Given the description of an element on the screen output the (x, y) to click on. 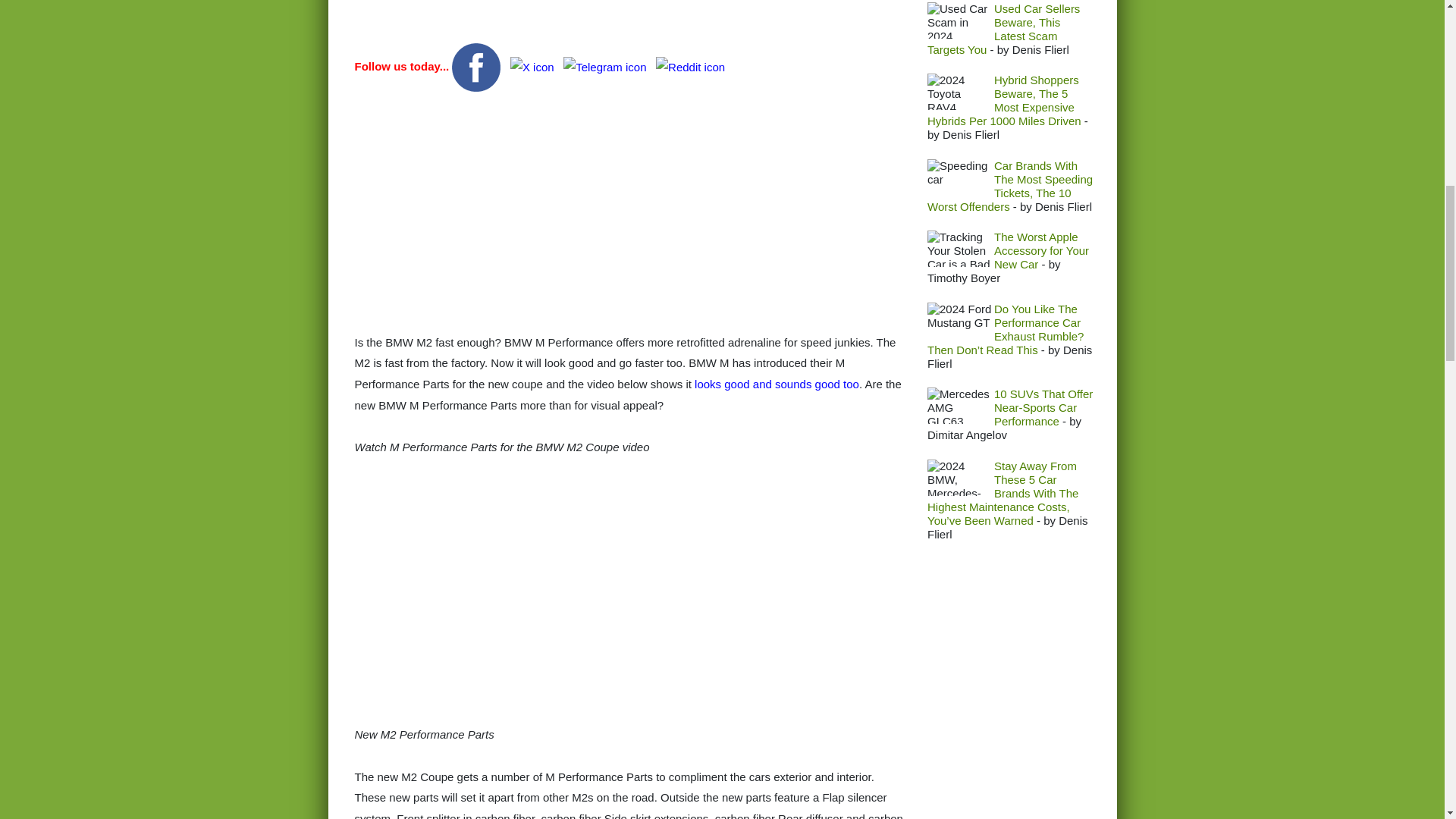
Join us on Reddit! (690, 65)
Join us on Telegram! (606, 65)
looks good and sounds good too (776, 383)
